Given the description of an element on the screen output the (x, y) to click on. 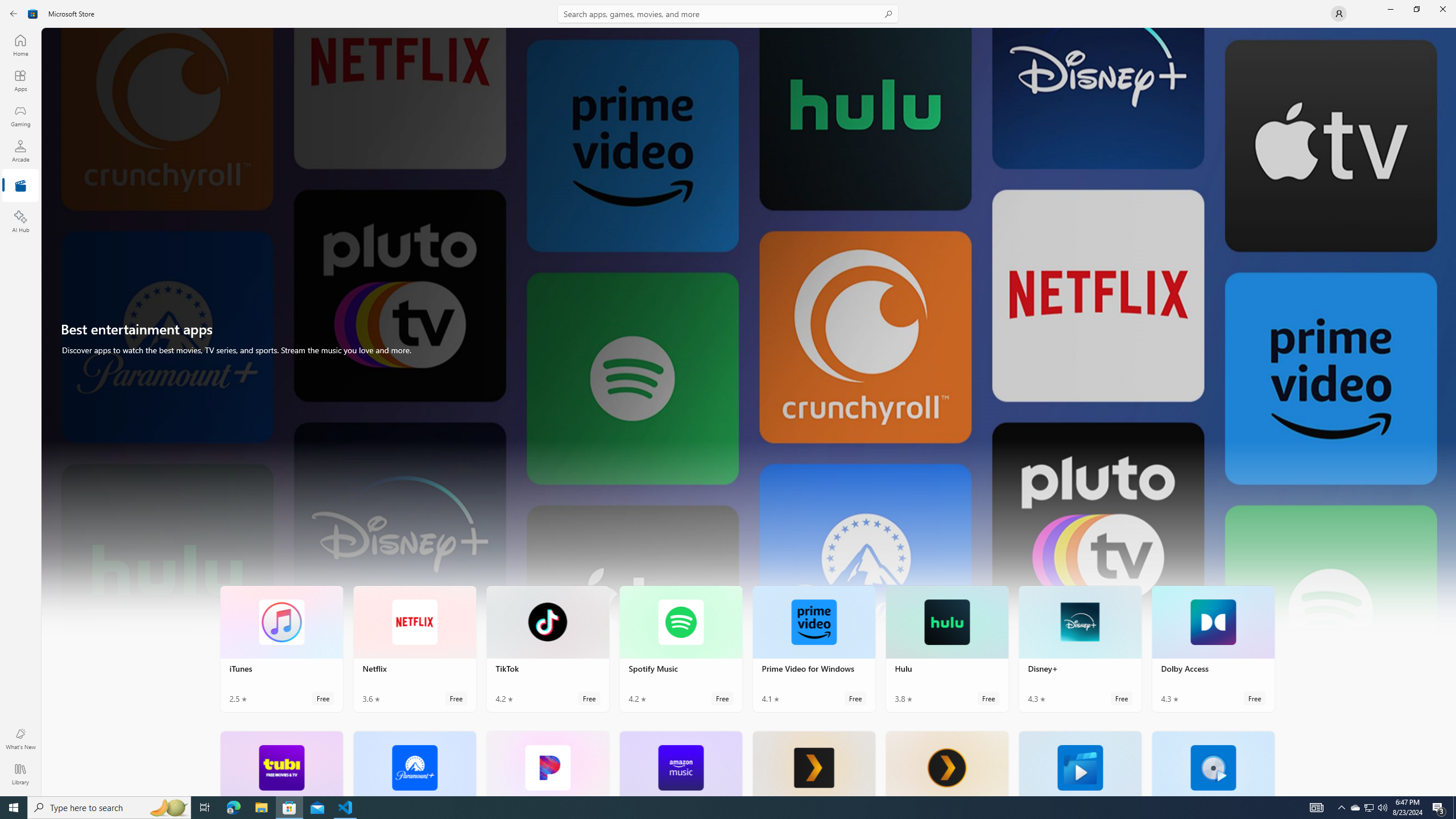
Entertainment (20, 185)
AutomationID: NavigationControl (728, 398)
Home (20, 45)
Pandora. Average rating of 4.5 out of five stars. Free   (548, 763)
AutomationID: HeroOverlayImage (749, 337)
AI Hub (20, 221)
Restore Microsoft Store (1416, 9)
Gaming (20, 115)
TikTok. Average rating of 4.2 out of five stars. Free   (548, 648)
